Given the description of an element on the screen output the (x, y) to click on. 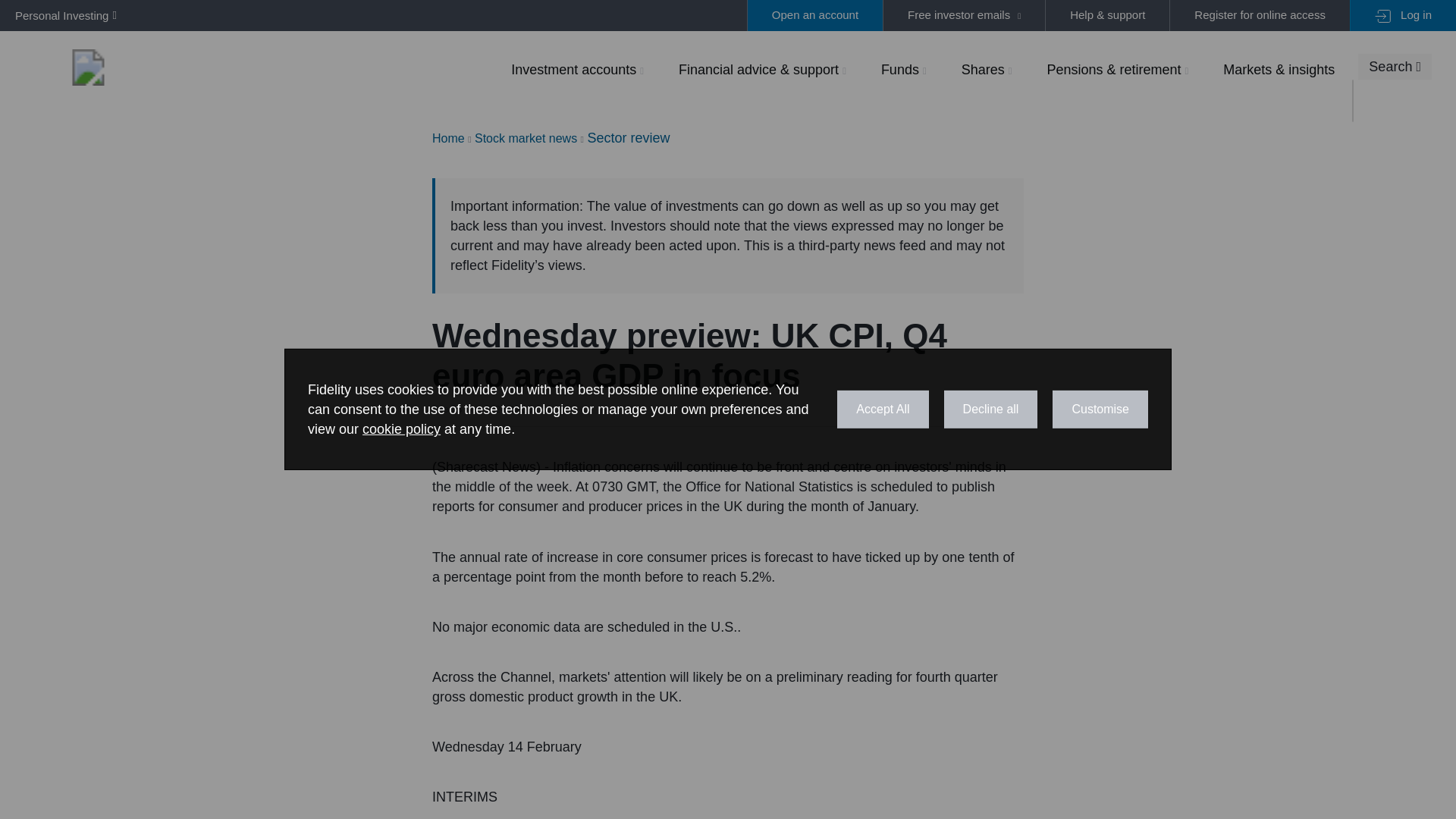
Fidelity International Logo (88, 67)
Free investor emails (963, 15)
Register for online access (1259, 15)
Fidelity International Logo (88, 67)
Personal Investing (61, 15)
Investment accounts (576, 69)
Open an account (814, 15)
